Given the description of an element on the screen output the (x, y) to click on. 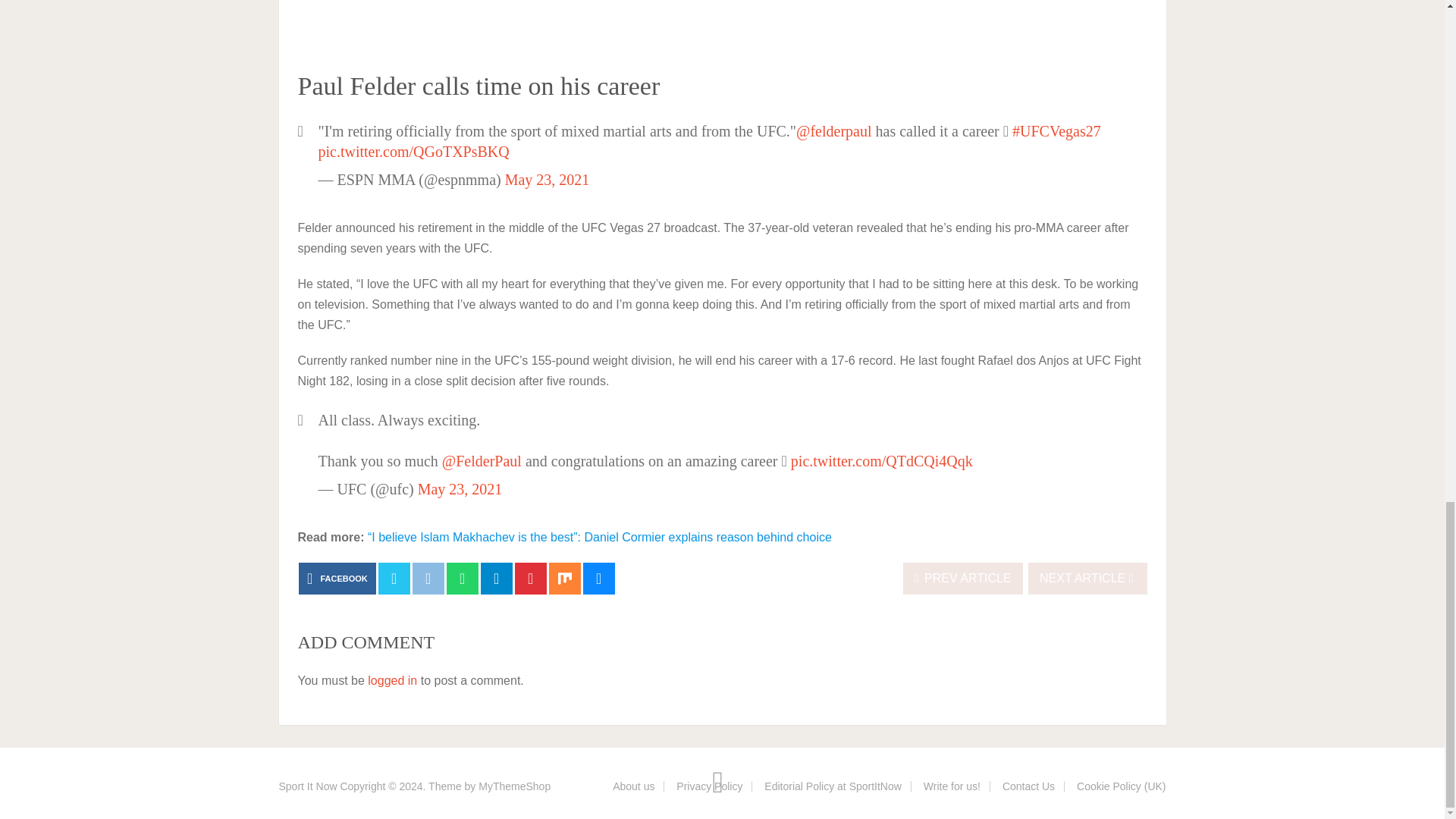
 Daily sports news (308, 786)
May 23, 2021 (459, 488)
May 23, 2021 (547, 179)
